Given the description of an element on the screen output the (x, y) to click on. 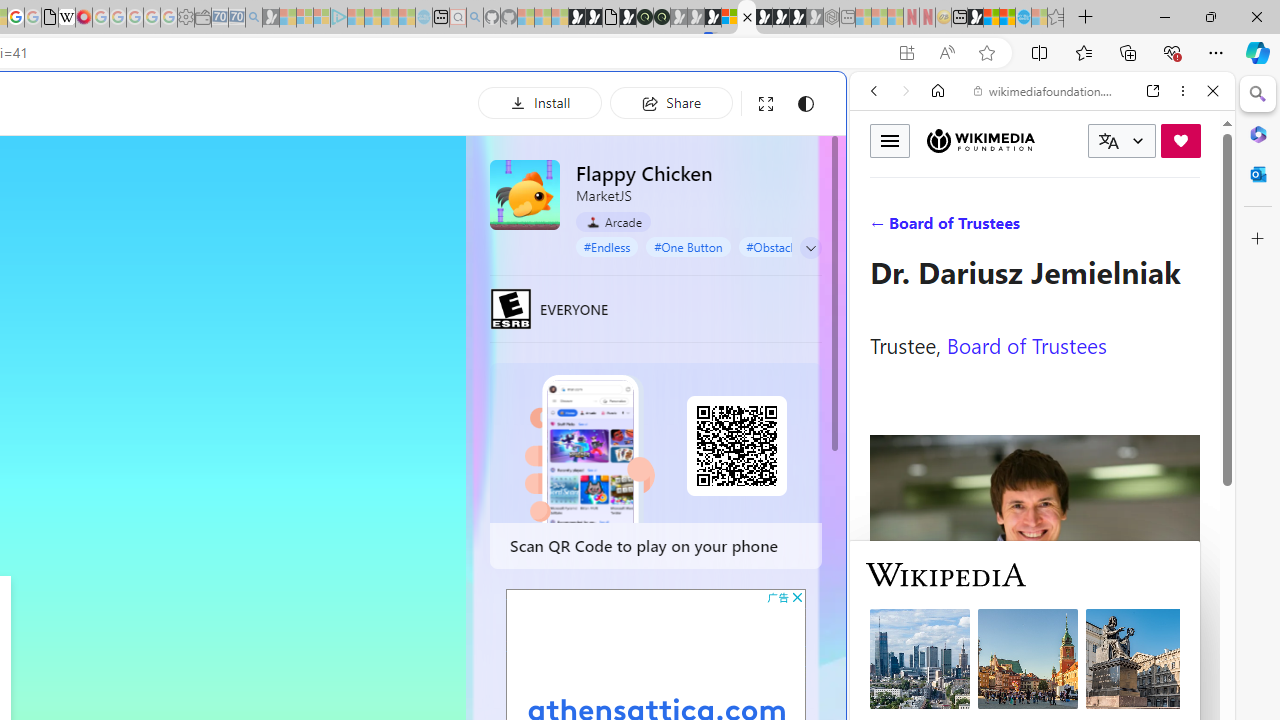
Frequently visited (418, 265)
Close (1213, 91)
WEB   (882, 228)
Split screen (1039, 52)
Favorites (1083, 52)
World - MSN (991, 17)
Services - Maintenance | Sky Blue Bikes - Sky Blue Bikes (1023, 17)
